Given the description of an element on the screen output the (x, y) to click on. 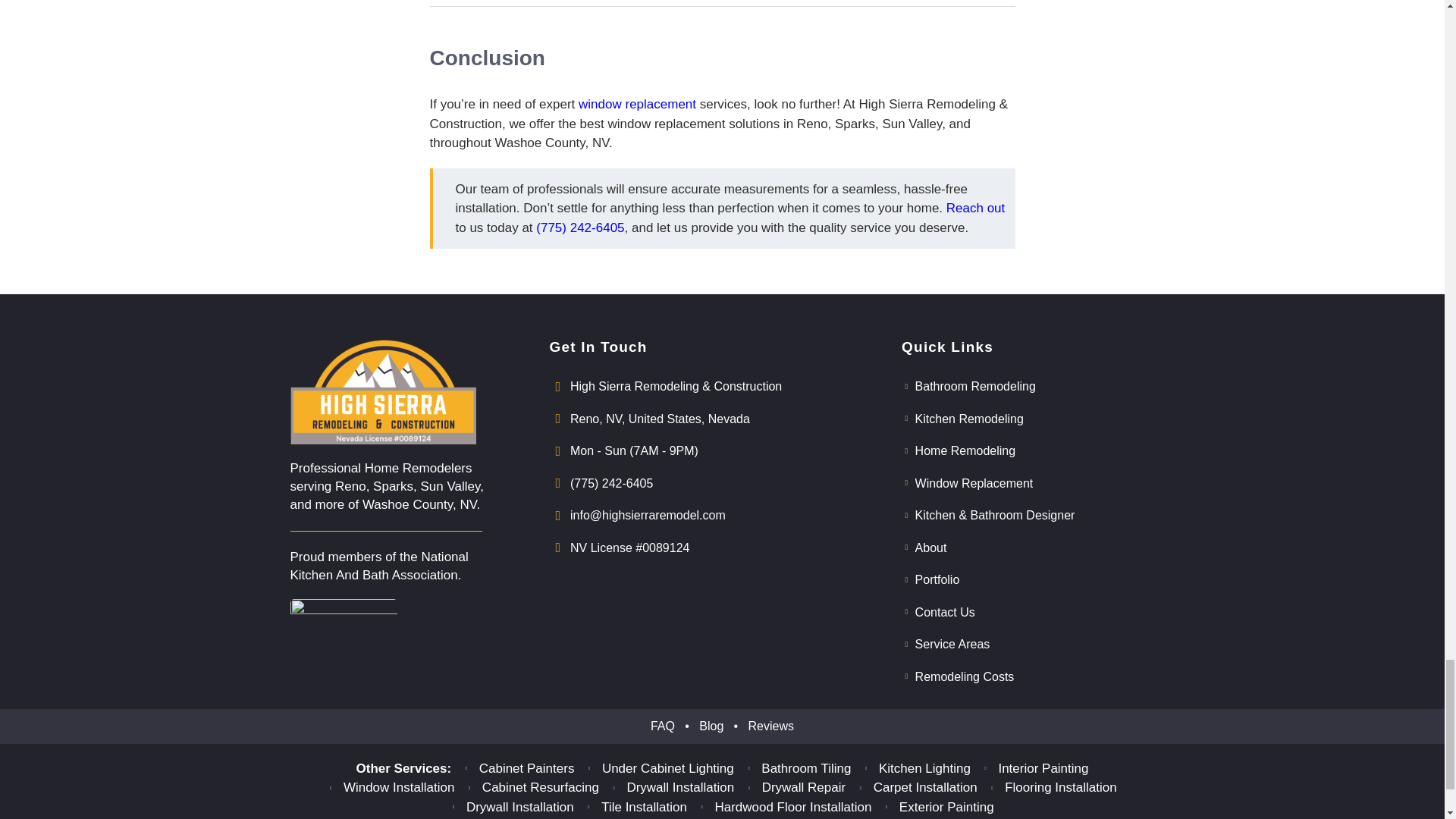
Bathroom Remodeling (1024, 386)
window replacement (636, 104)
Home Remodeling (1024, 451)
Service Areas (1024, 644)
Contact Us (1024, 611)
Kitchen Remodeling (1024, 419)
Portfolio (1024, 579)
Window Replacement (1024, 483)
About (1024, 547)
Reach out (976, 207)
